Given the description of an element on the screen output the (x, y) to click on. 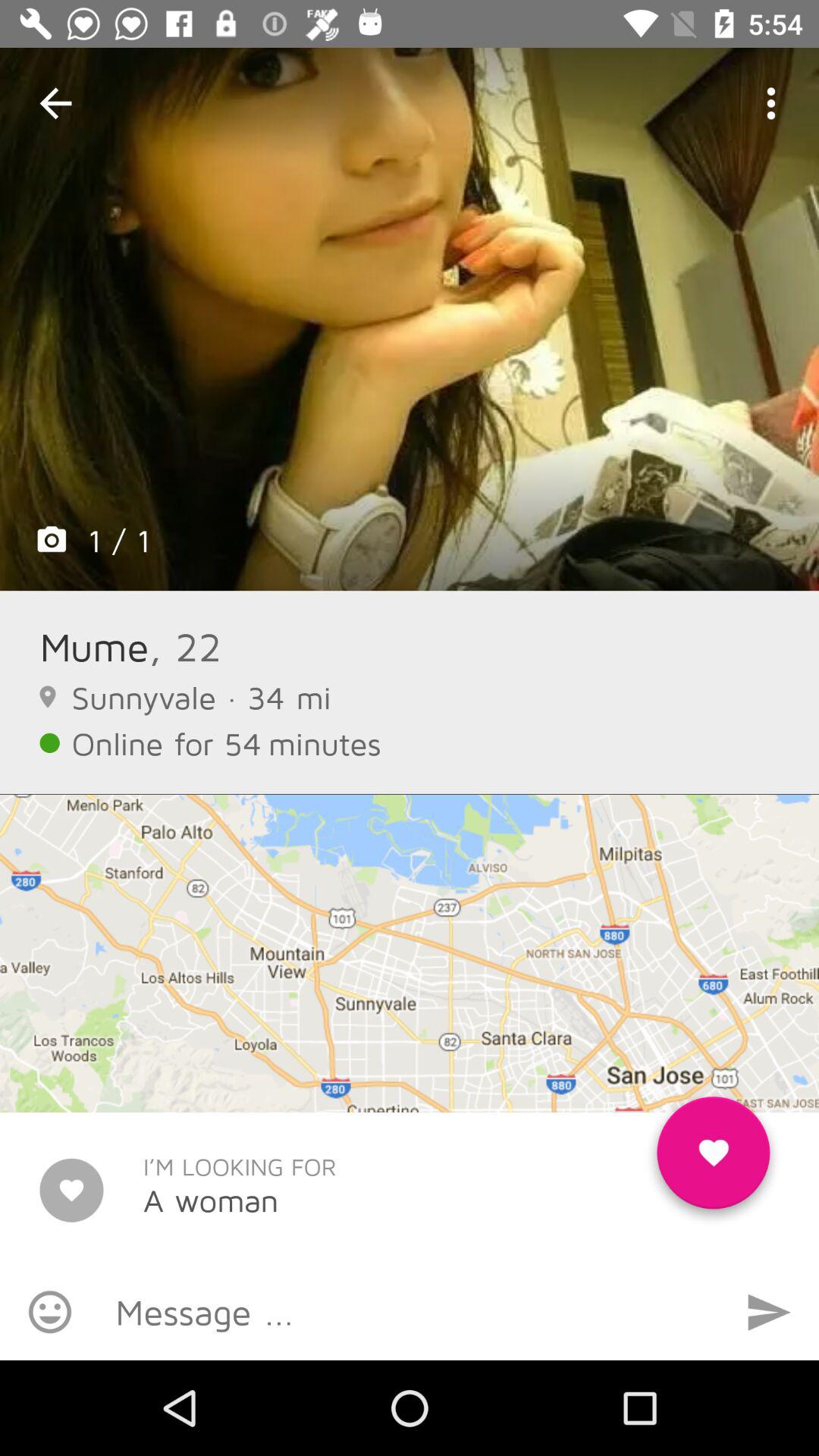
view photo (409, 318)
